Given the description of an element on the screen output the (x, y) to click on. 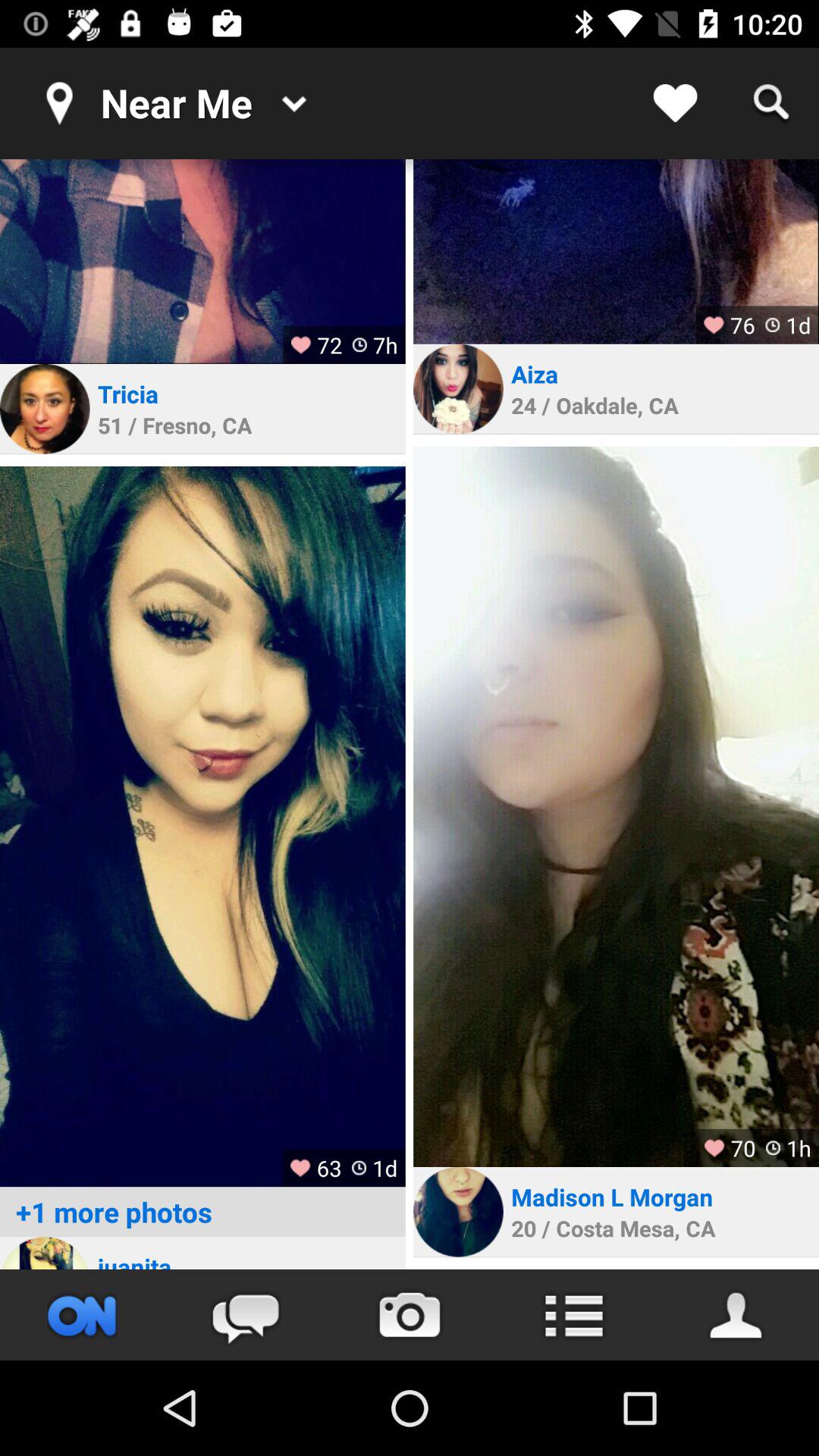
contact list (737, 1315)
